Given the description of an element on the screen output the (x, y) to click on. 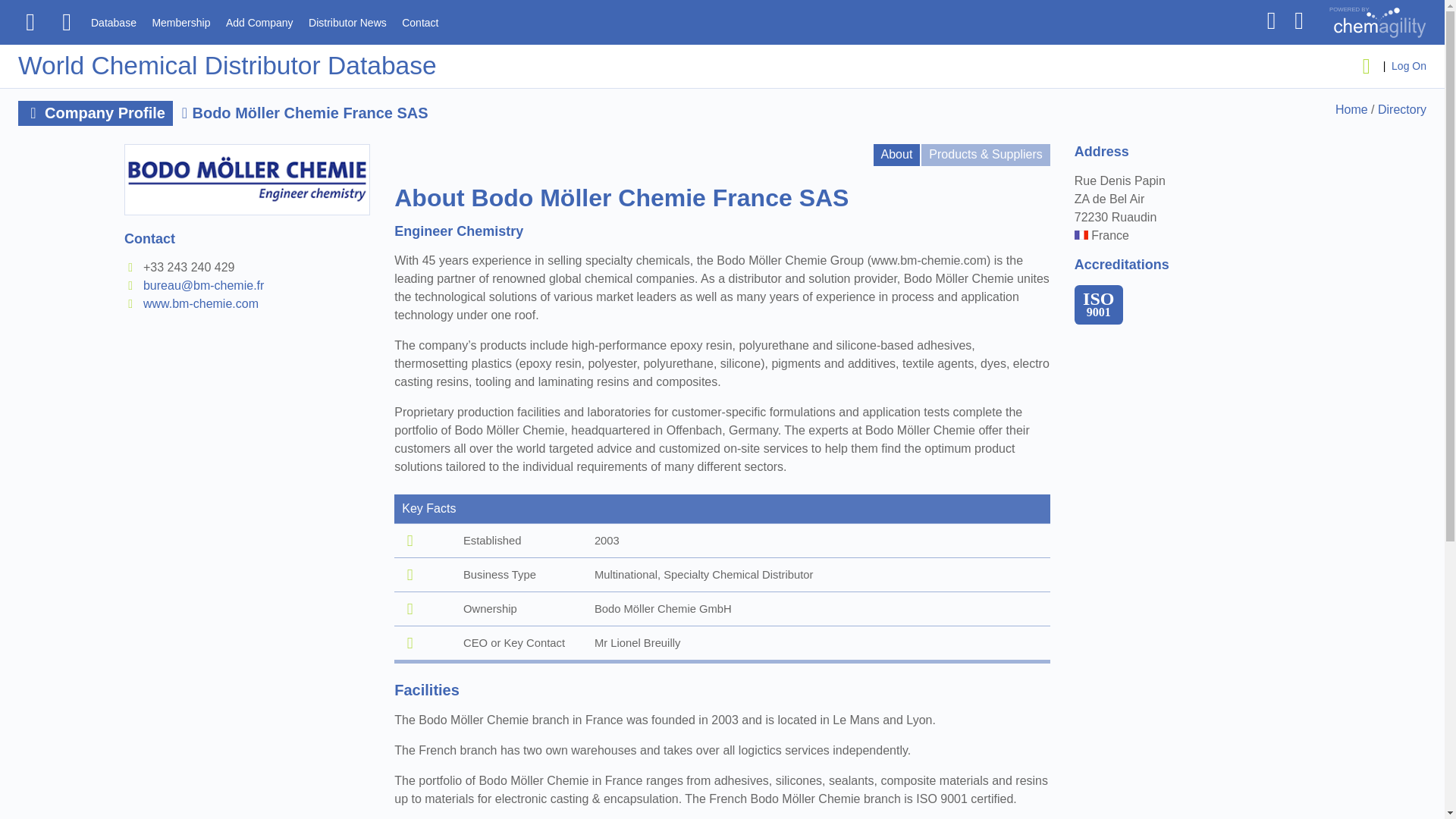
Distributor News (347, 22)
about chemagility (1368, 33)
Chemagility on Twitter (1271, 20)
Database (113, 22)
Add Company (259, 22)
Membership (180, 22)
Contact (419, 22)
International Standards Organization 9001 (1098, 304)
World Chemical Distributor Database Home (226, 65)
